Given the description of an element on the screen output the (x, y) to click on. 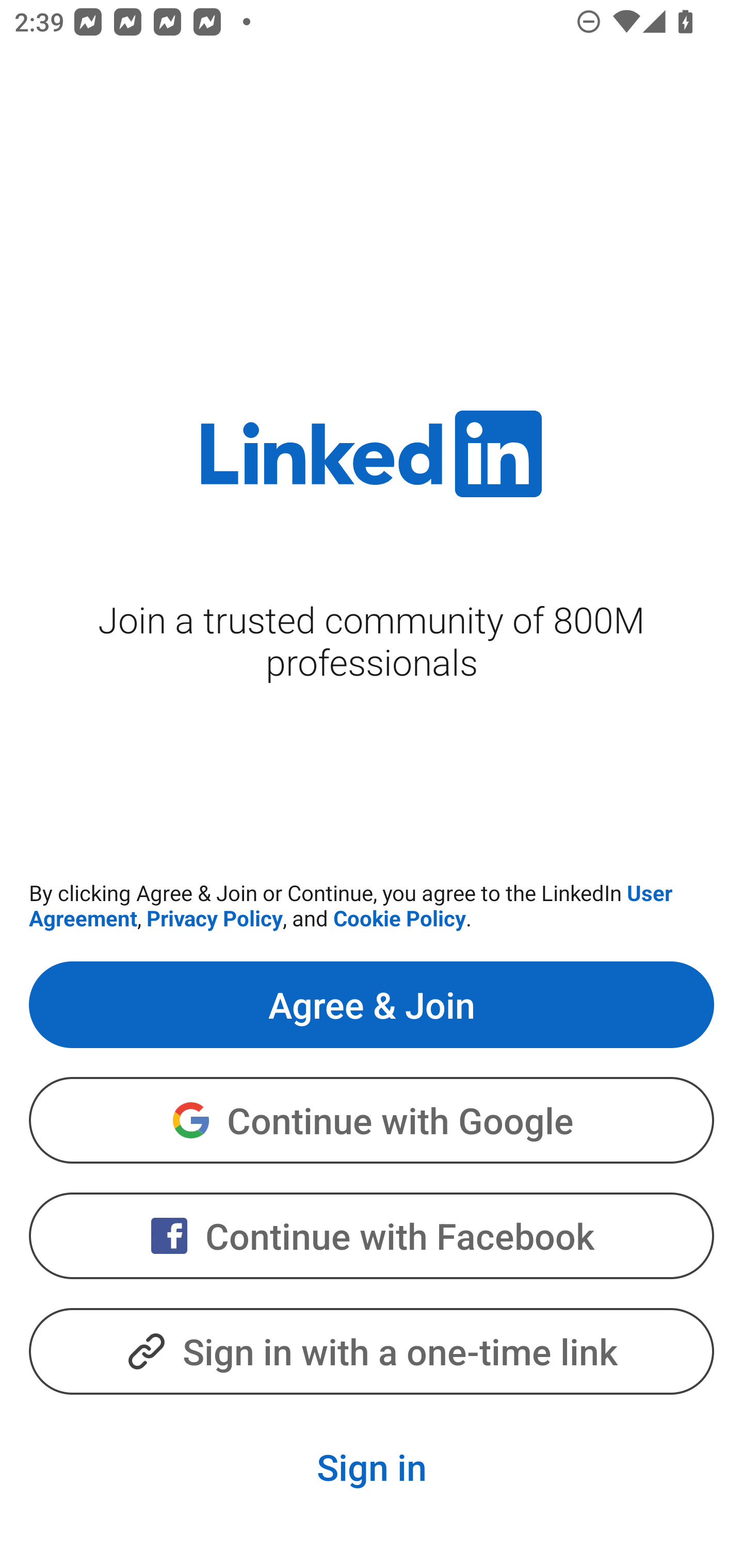
Agree & Join (371, 1004)
Continue with Google (371, 1120)
Continue with Facebook (371, 1236)
Sign in with a one-time link (371, 1350)
Sign in (371, 1466)
